Given the description of an element on the screen output the (x, y) to click on. 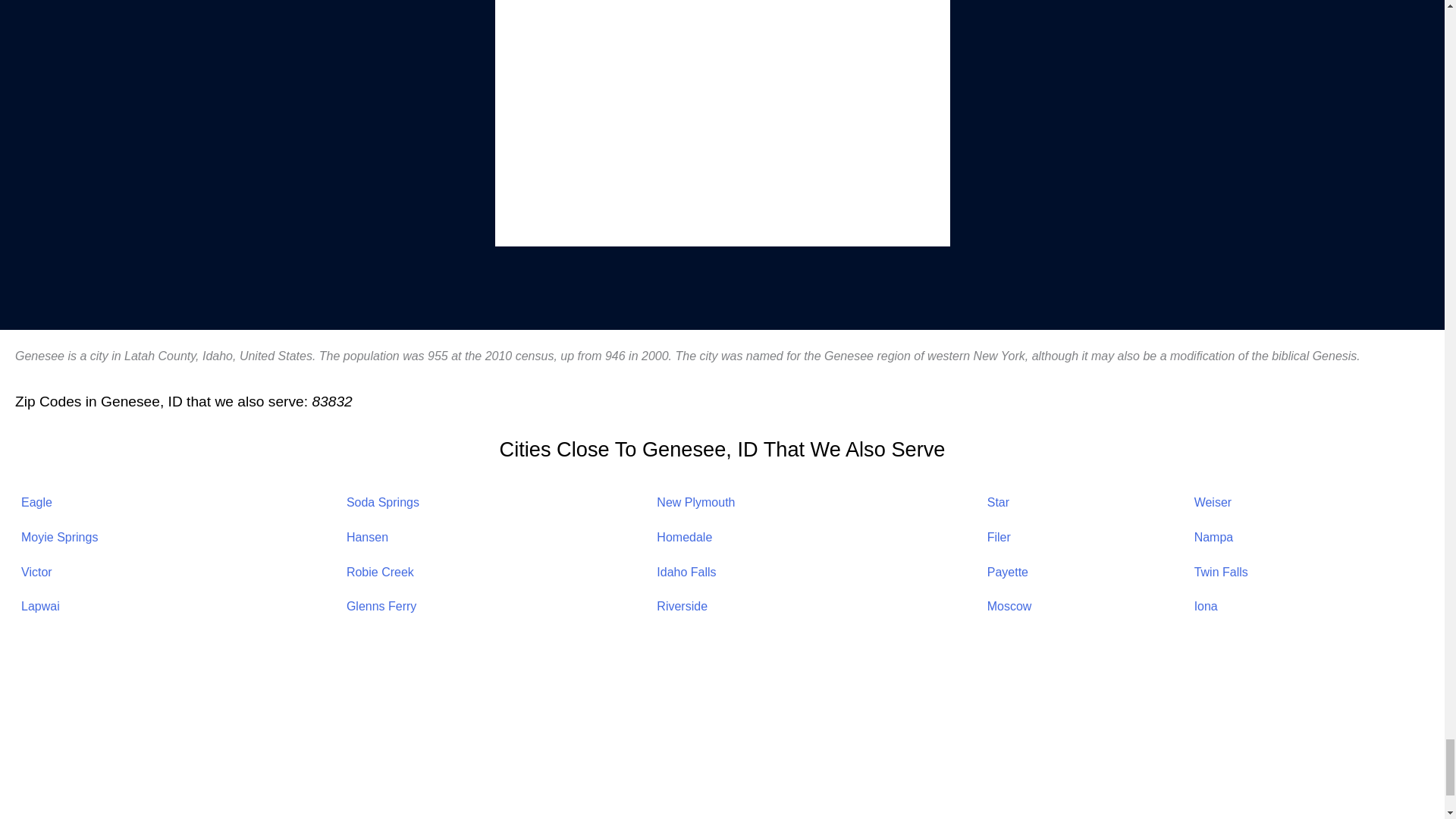
Soda Springs (382, 502)
Weiser (1212, 502)
Moyie Springs (59, 536)
Eagle (36, 502)
Hansen (367, 536)
Star (998, 502)
Homedale (683, 536)
New Plymouth (695, 502)
